Given the description of an element on the screen output the (x, y) to click on. 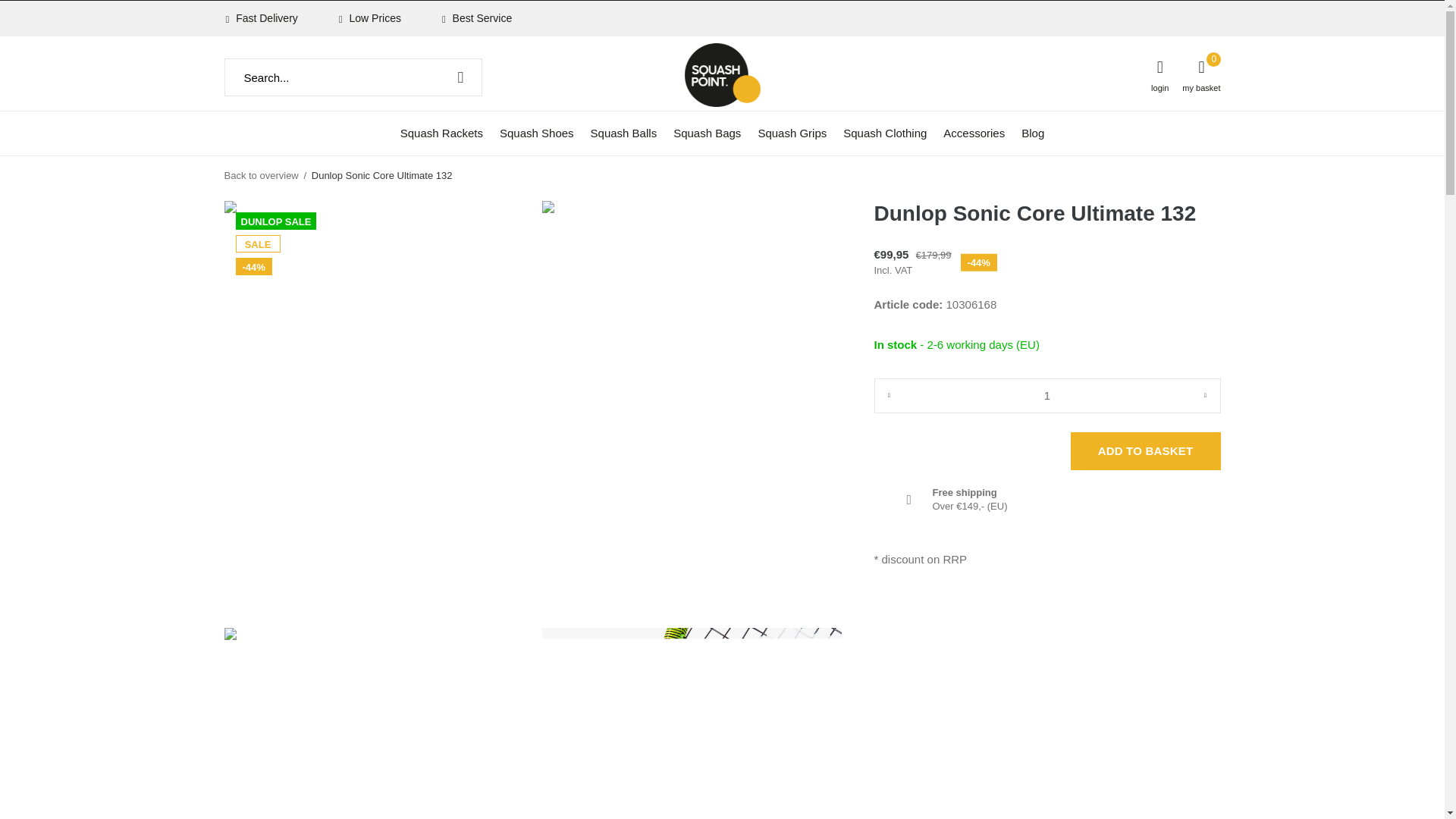
Squash Balls (624, 132)
1 (1046, 395)
Squash Shoes (536, 132)
Accessories (973, 132)
Blog (1032, 132)
Squash Bags (706, 132)
Squash Rackets (441, 132)
Squash Clothing (884, 132)
Squash Grips (792, 132)
